Given the description of an element on the screen output the (x, y) to click on. 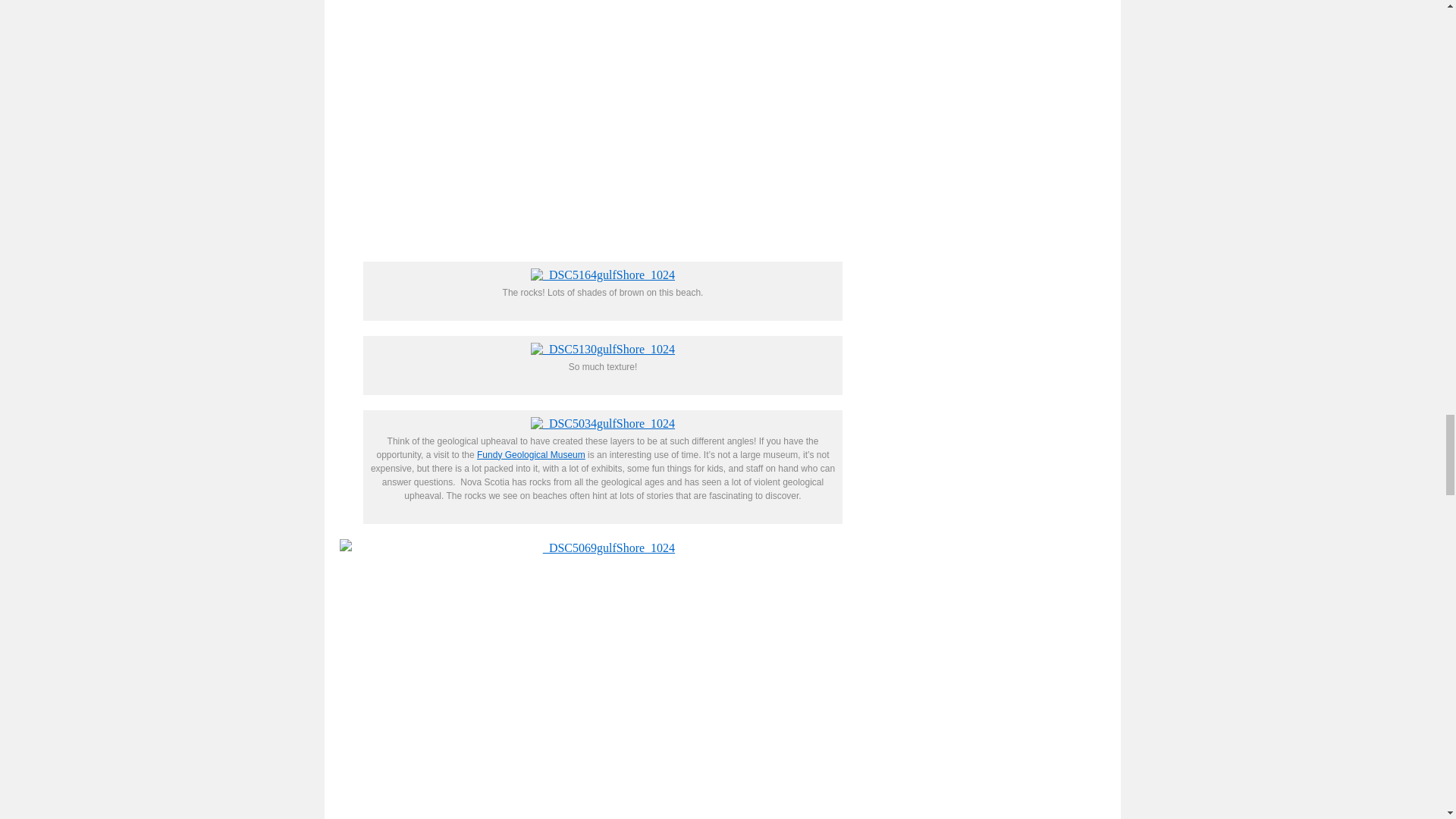
Fundy Geological Museum (531, 454)
